Given the description of an element on the screen output the (x, y) to click on. 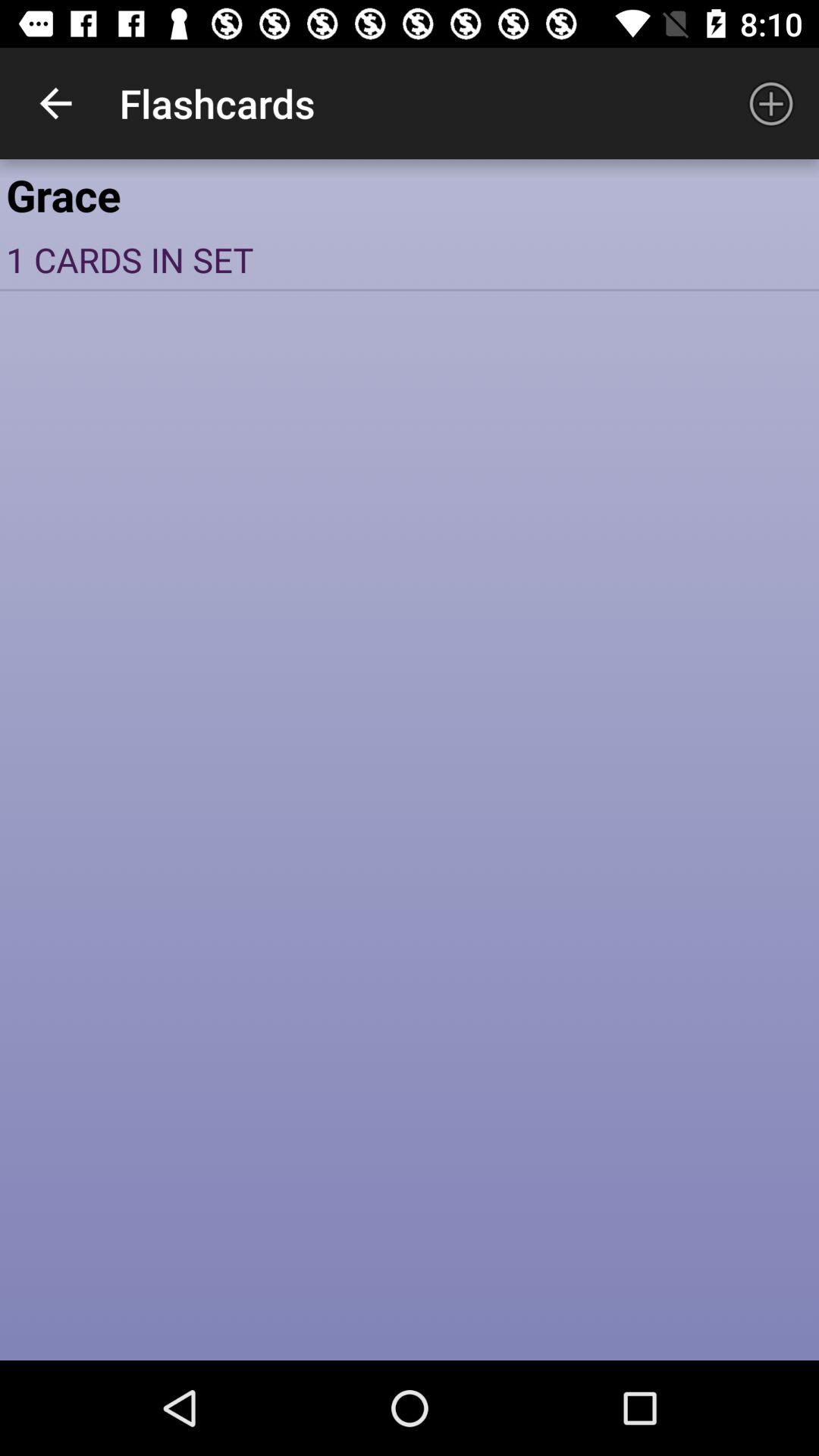
press icon next to the flashcards item (55, 103)
